Given the description of an element on the screen output the (x, y) to click on. 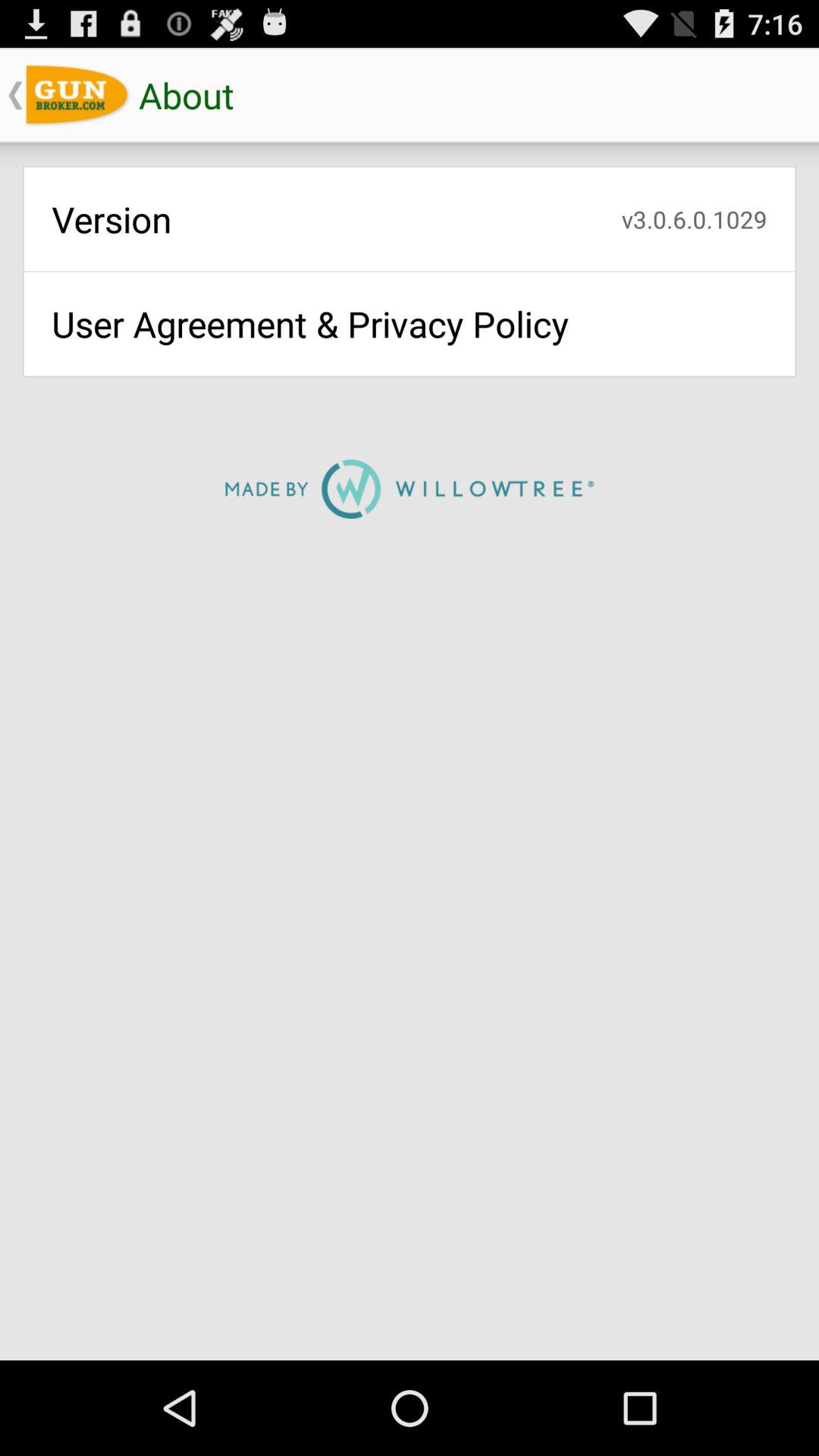
click the user agreement privacy icon (409, 323)
